Given the description of an element on the screen output the (x, y) to click on. 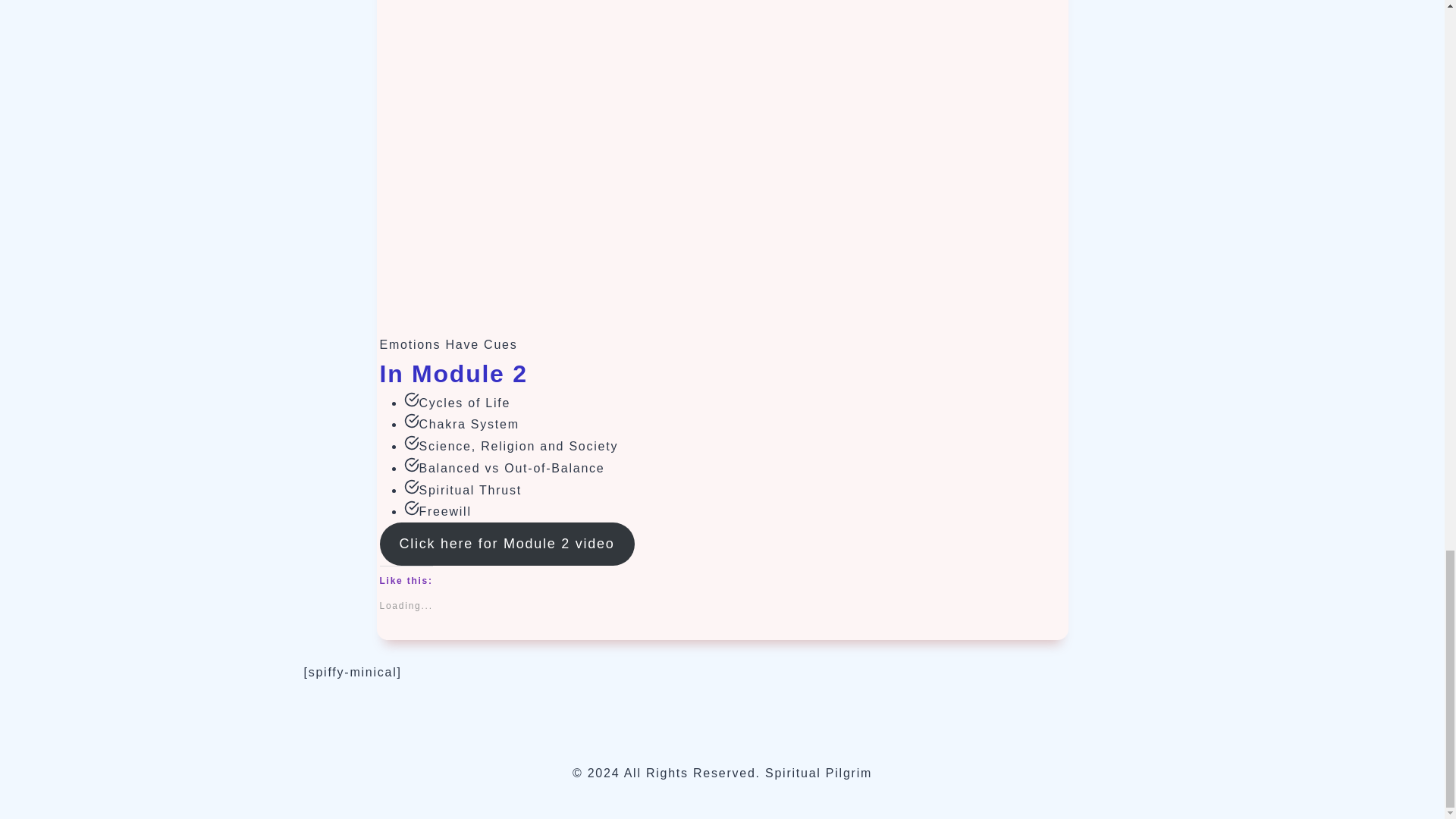
Click here for Module 2 video (505, 543)
